Given the description of an element on the screen output the (x, y) to click on. 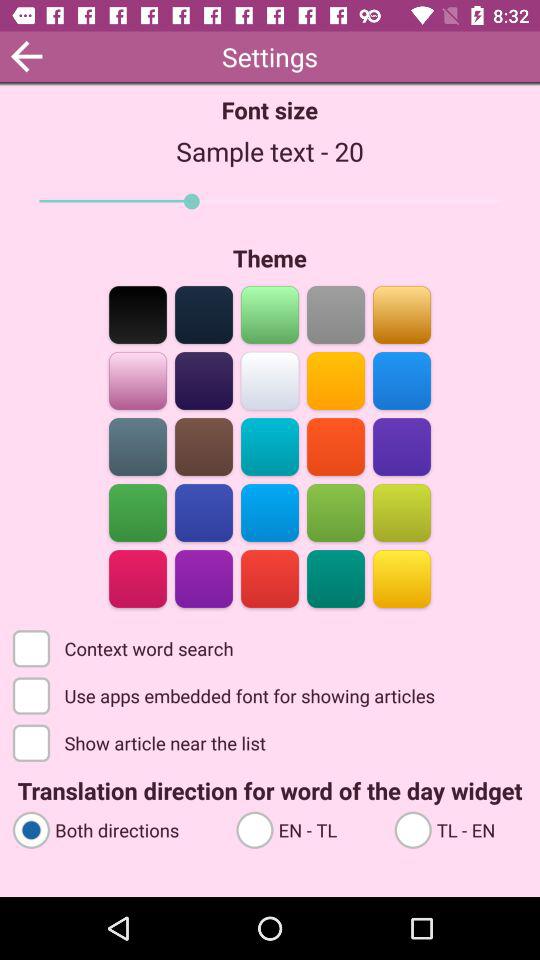
select lilac coor (137, 379)
